Given the description of an element on the screen output the (x, y) to click on. 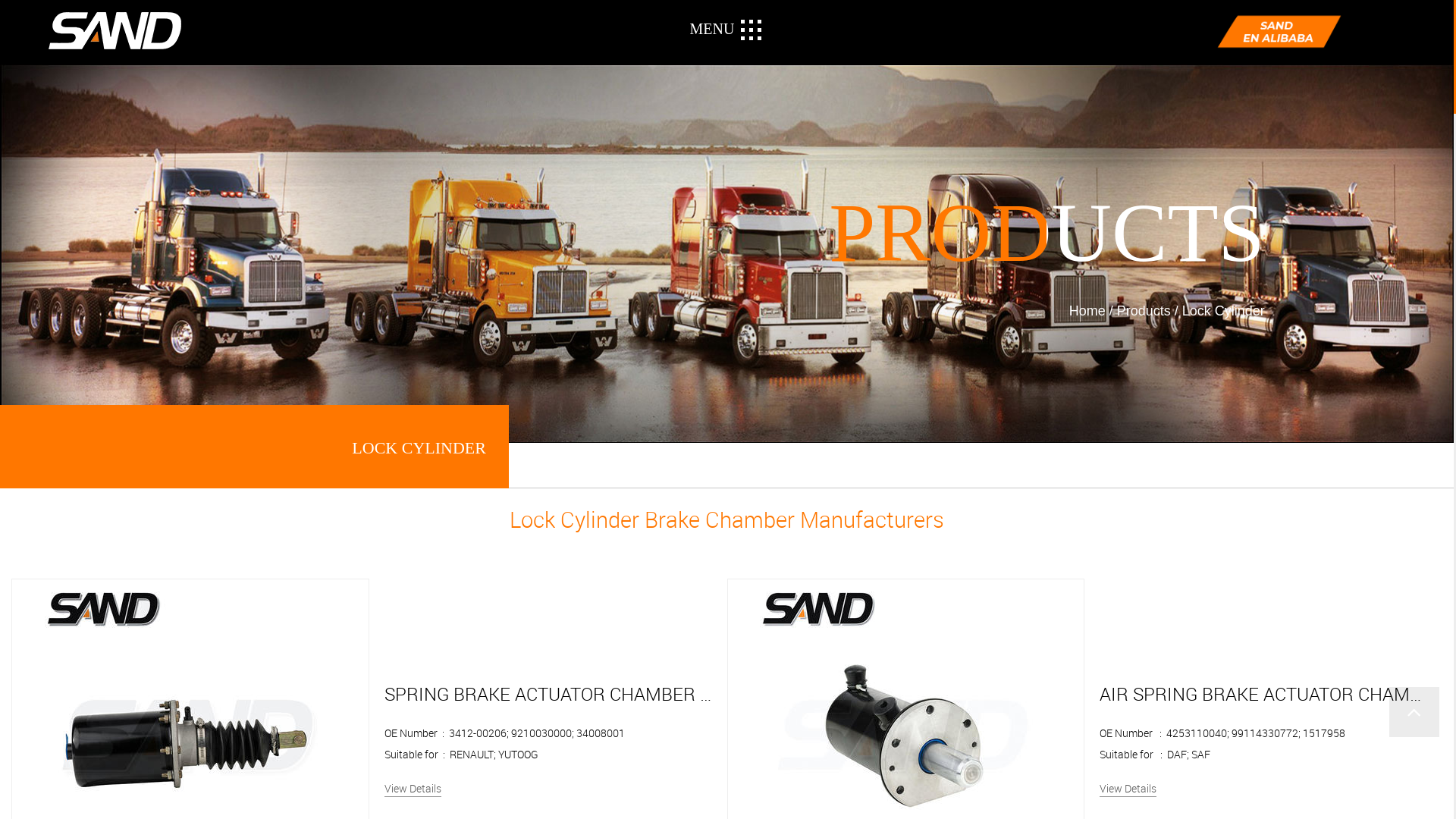
View Details Element type: text (1127, 788)
View Details Element type: text (412, 788)
Home Element type: text (1087, 309)
Products Element type: text (1143, 309)
SPRING BRAKE ACTUATOR CHAMBER PISTON LOCK CYLINDER SZG01 Element type: text (672, 693)
